Given the description of an element on the screen output the (x, y) to click on. 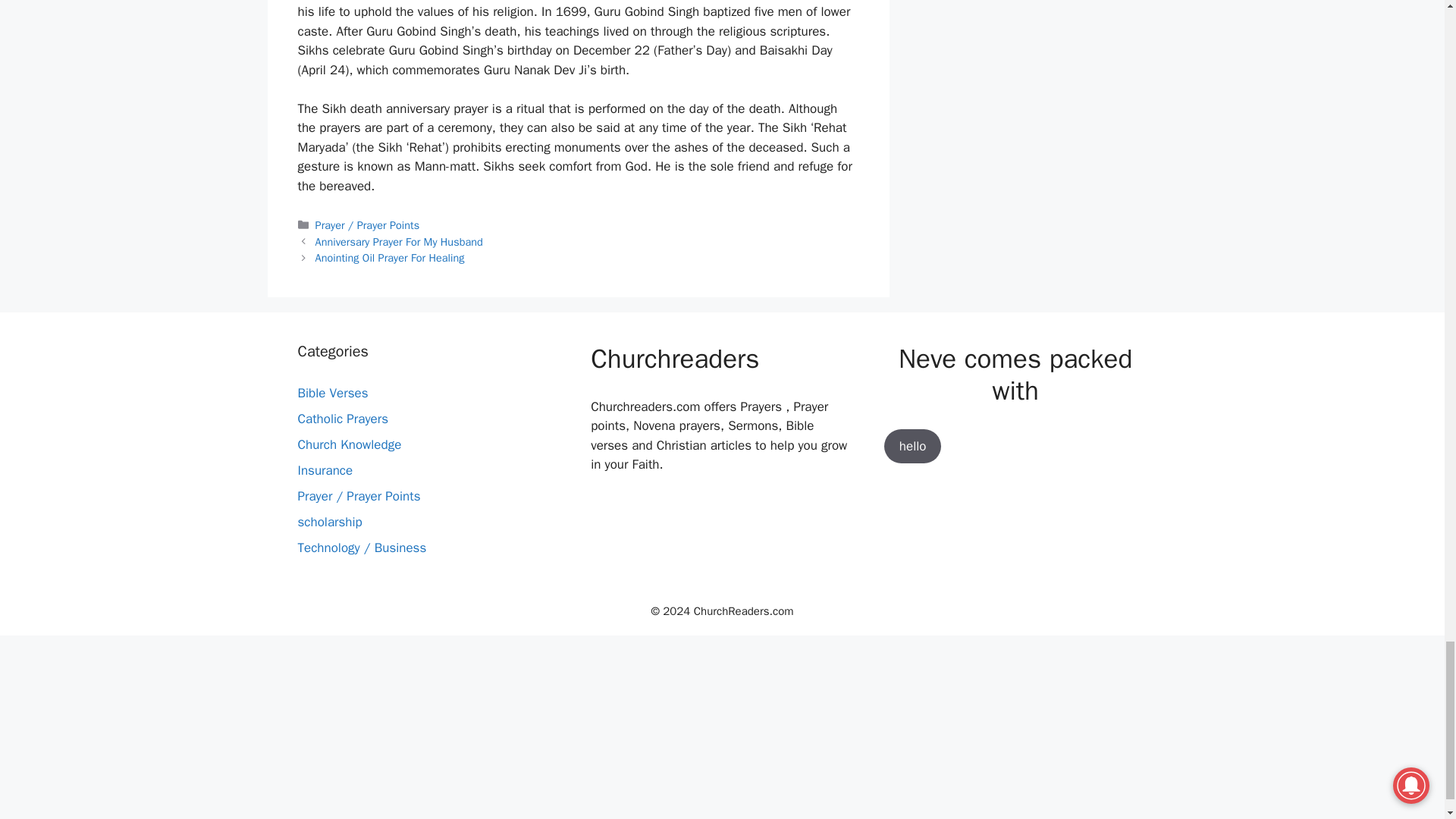
Anniversary Prayer For My Husband (399, 241)
Anointing Oil Prayer For Healing (389, 257)
scholarship (329, 521)
Catholic Prayers (342, 418)
Insurance (324, 470)
Church Knowledge (349, 444)
Bible Verses (332, 392)
